Given the description of an element on the screen output the (x, y) to click on. 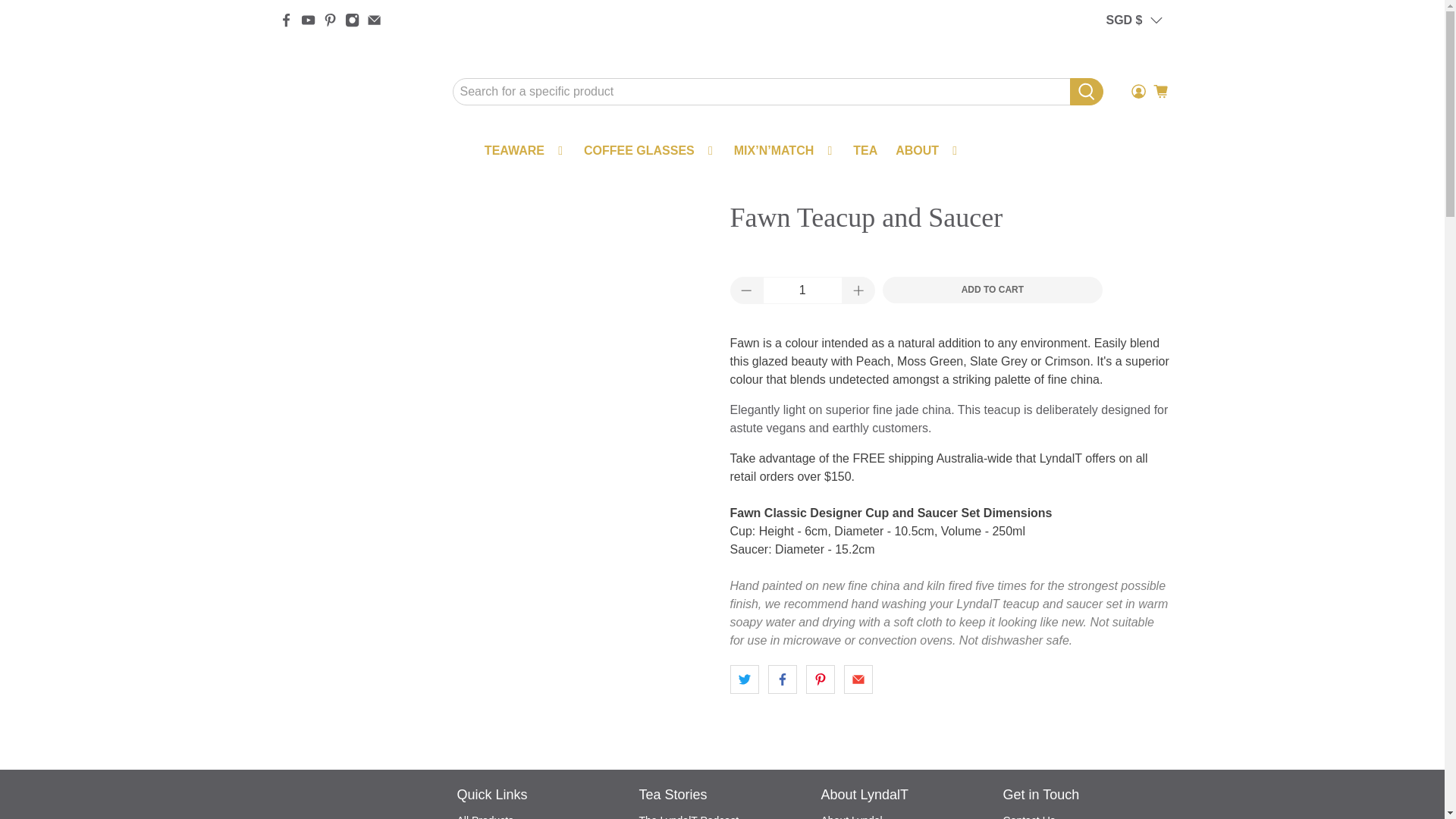
BND (1135, 432)
CAD (1135, 576)
DKK (1135, 806)
AZN (1135, 259)
DJF (1135, 778)
BGN (1135, 375)
ALL (1135, 113)
LyndalT on Facebook (286, 20)
BWP (1135, 519)
AFN (1135, 84)
AWG (1135, 230)
CDF (1135, 605)
Contact (1028, 816)
CNY (1135, 663)
BBD (1135, 317)
